Given the description of an element on the screen output the (x, y) to click on. 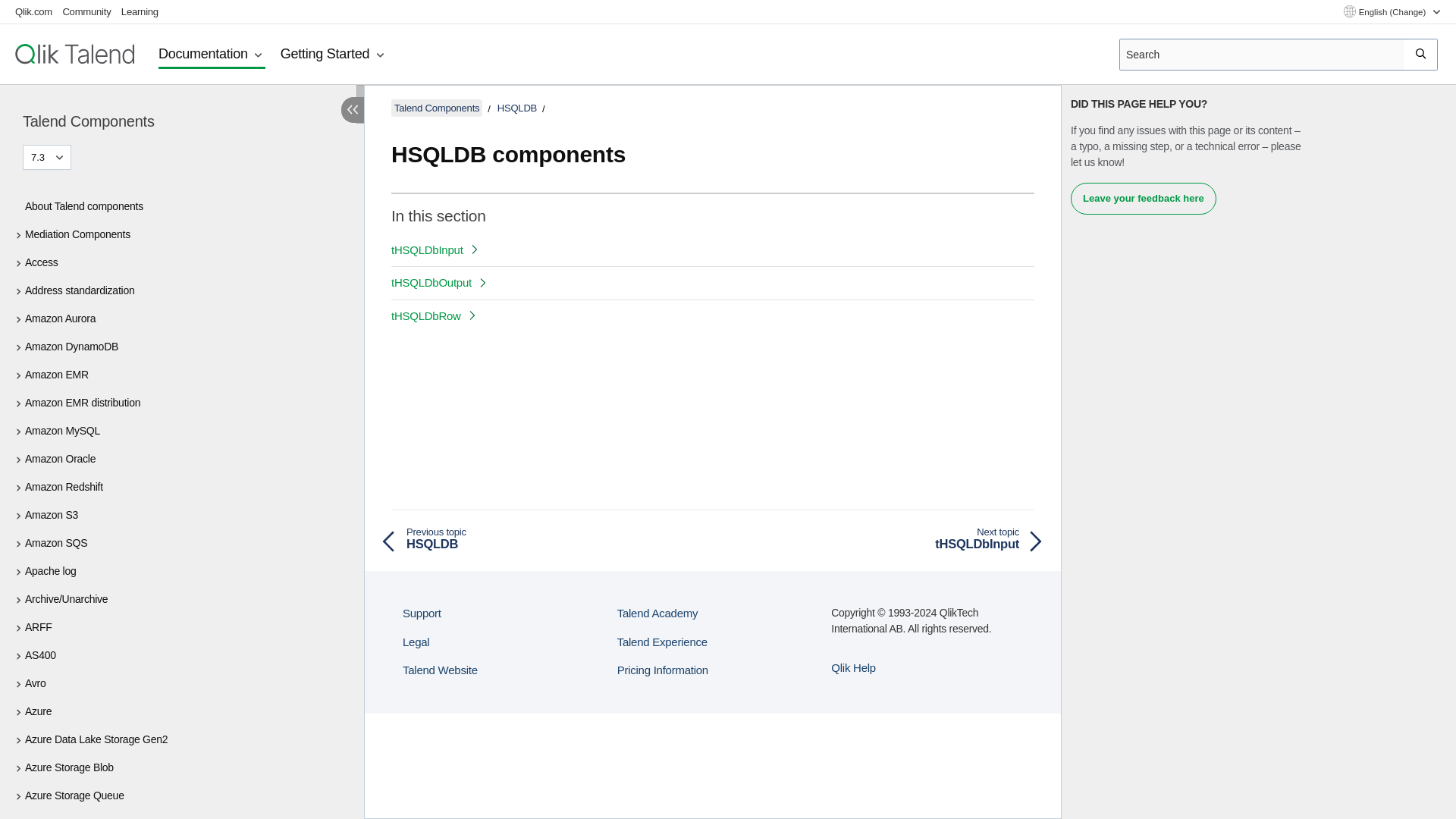
Documentation (211, 54)
Getting Started (334, 54)
Community (86, 11)
Search (1421, 54)
Learning (139, 11)
Qlik.com (33, 11)
